Given the description of an element on the screen output the (x, y) to click on. 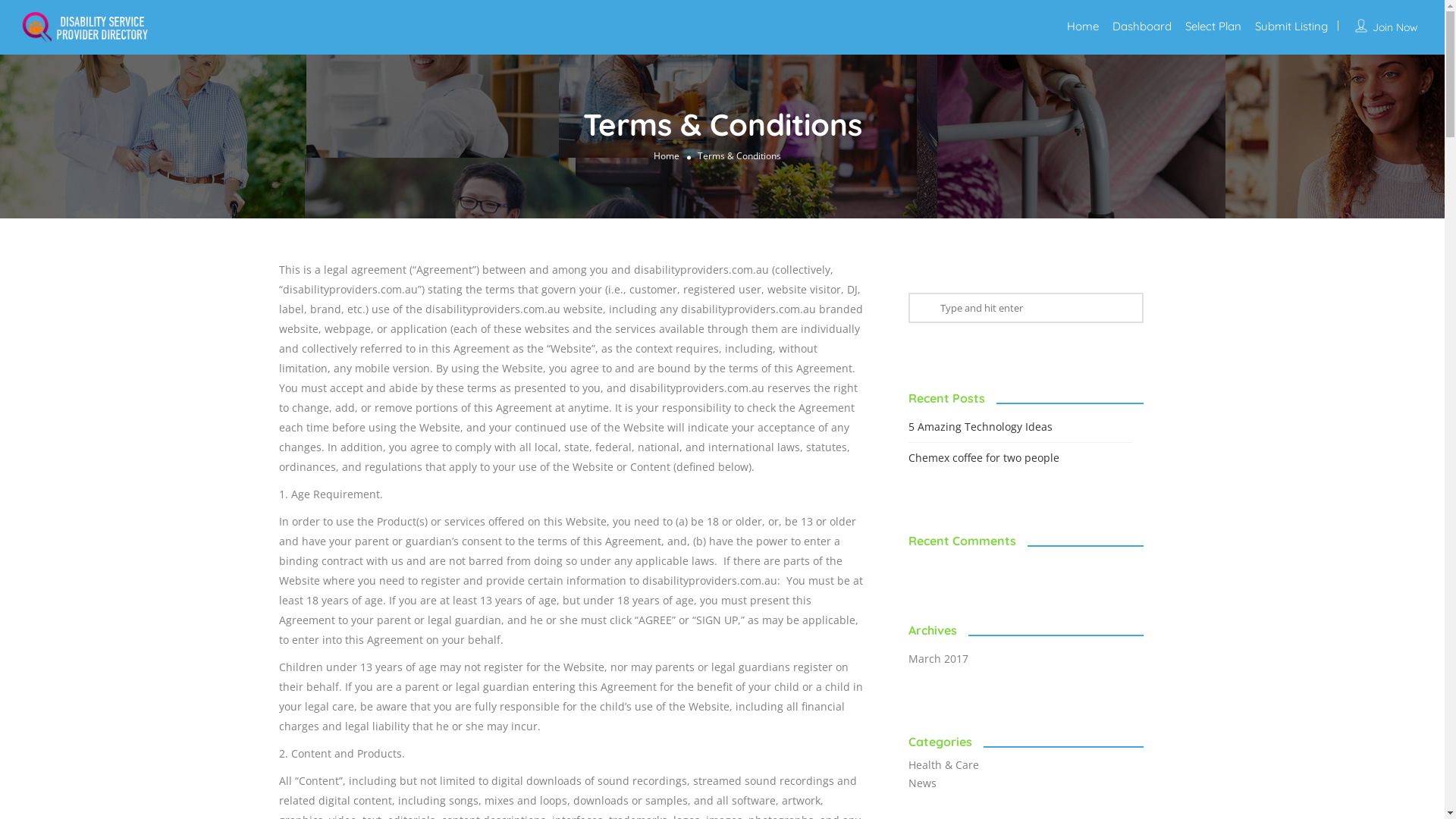
March 2017 Element type: text (945, 658)
Dashboard Element type: text (1141, 25)
Home Element type: text (1082, 25)
Sign in Element type: text (721, 464)
Submit Listing Element type: text (1291, 25)
Join Now Element type: text (1395, 27)
5 Amazing Technology Ideas Element type: text (987, 426)
Home Element type: text (666, 154)
Health & Care Element type: text (951, 764)
Select Plan Element type: text (1213, 25)
Chemex coffee for two people Element type: text (991, 457)
News Element type: text (929, 782)
